Given the description of an element on the screen output the (x, y) to click on. 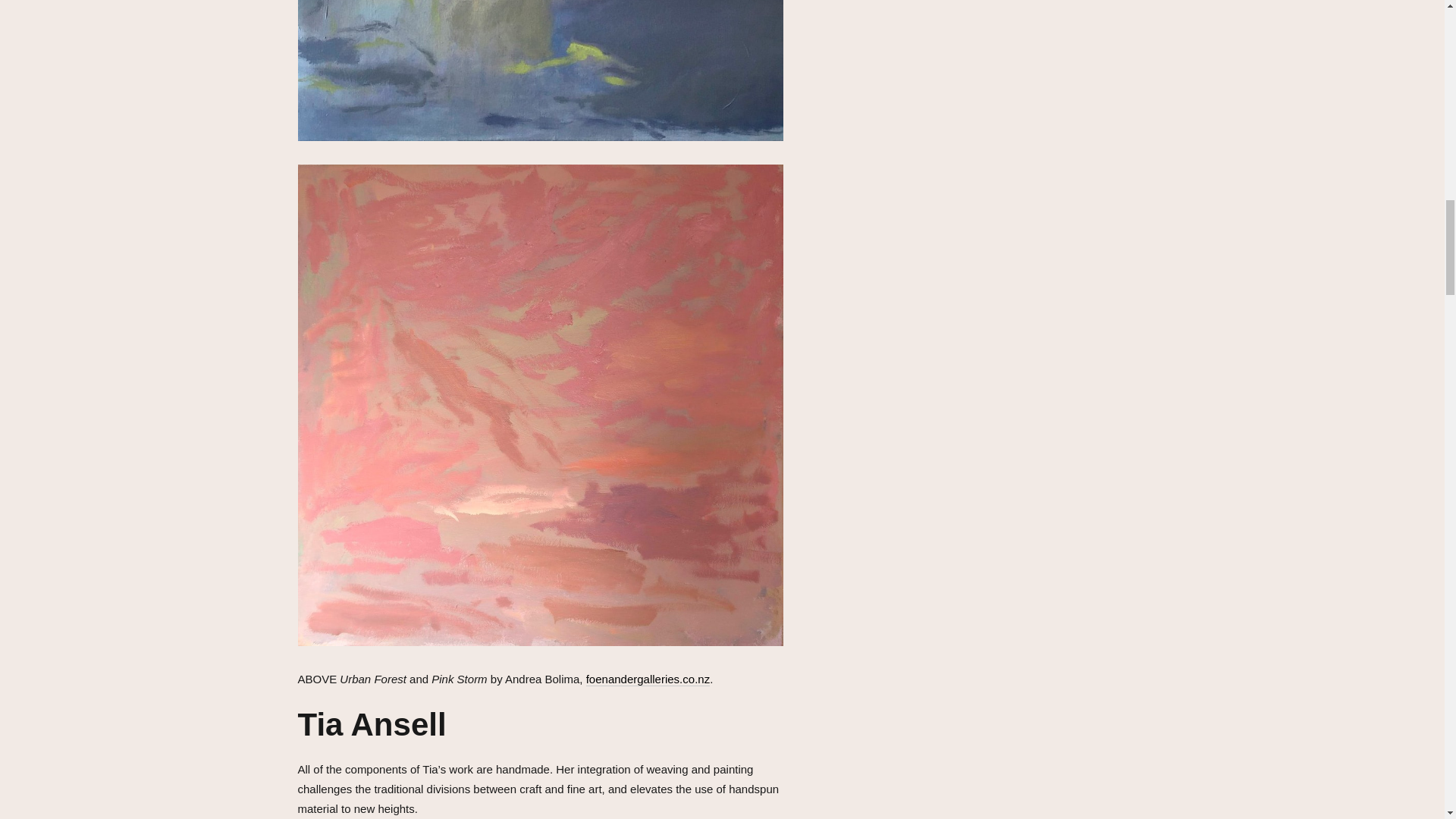
foenandergalleries.co.nz (648, 679)
